Given the description of an element on the screen output the (x, y) to click on. 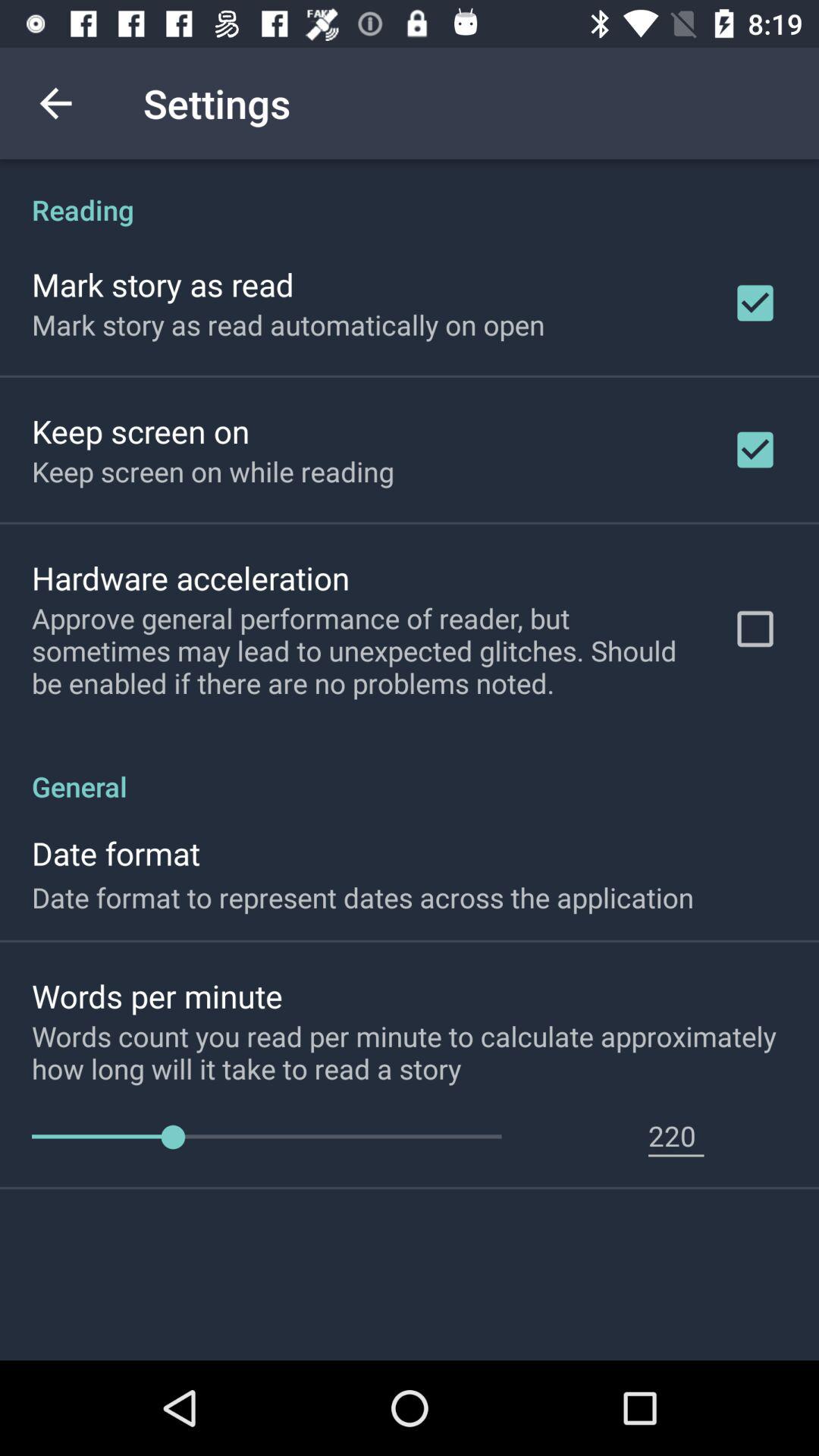
turn on icon to the left of the settings icon (55, 103)
